Given the description of an element on the screen output the (x, y) to click on. 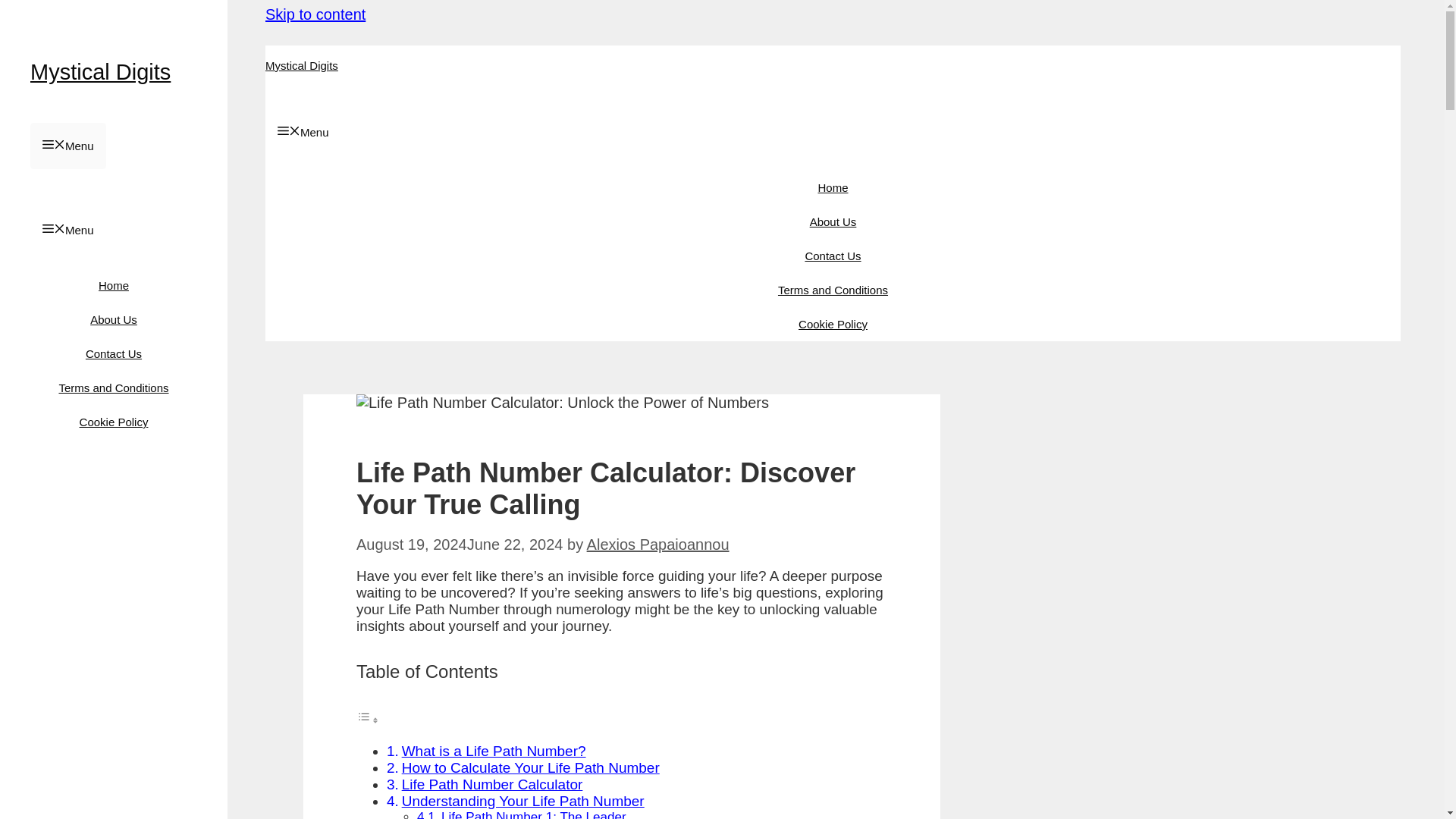
View all posts by Alexios Papaioannou (657, 544)
Cookie Policy (114, 421)
About Us (113, 318)
Skip to content (314, 13)
About Us (833, 221)
Mystical Digits (300, 65)
Terms and Conditions (113, 387)
Mystical Digits (100, 71)
How to Calculate Your Life Path Number (530, 767)
Understanding Your Life Path Number (523, 801)
